Given the description of an element on the screen output the (x, y) to click on. 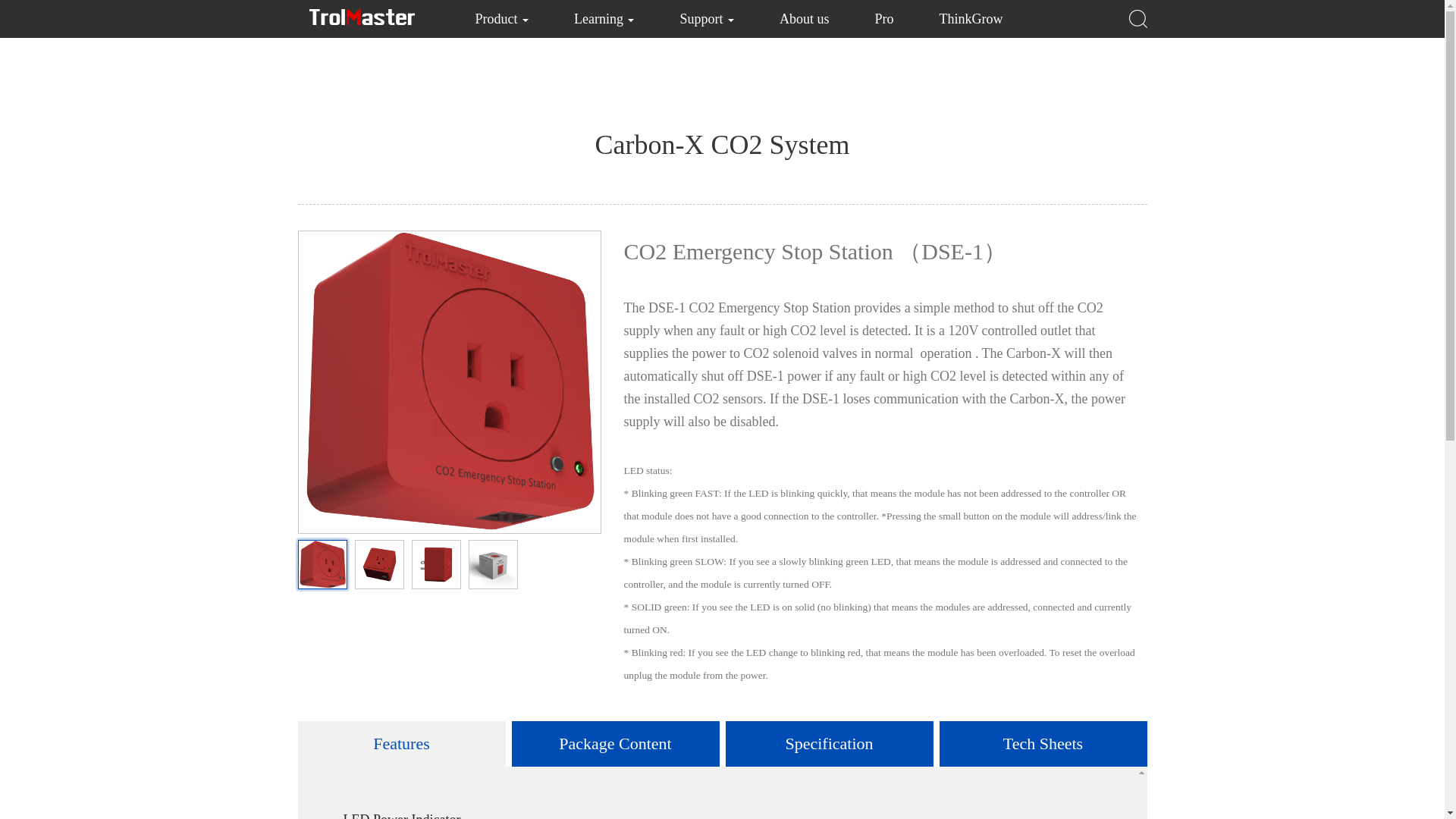
Pro (884, 18)
Support (706, 18)
Learning (603, 18)
Product (501, 18)
ThinkGrow (971, 18)
About us (804, 18)
